Given the description of an element on the screen output the (x, y) to click on. 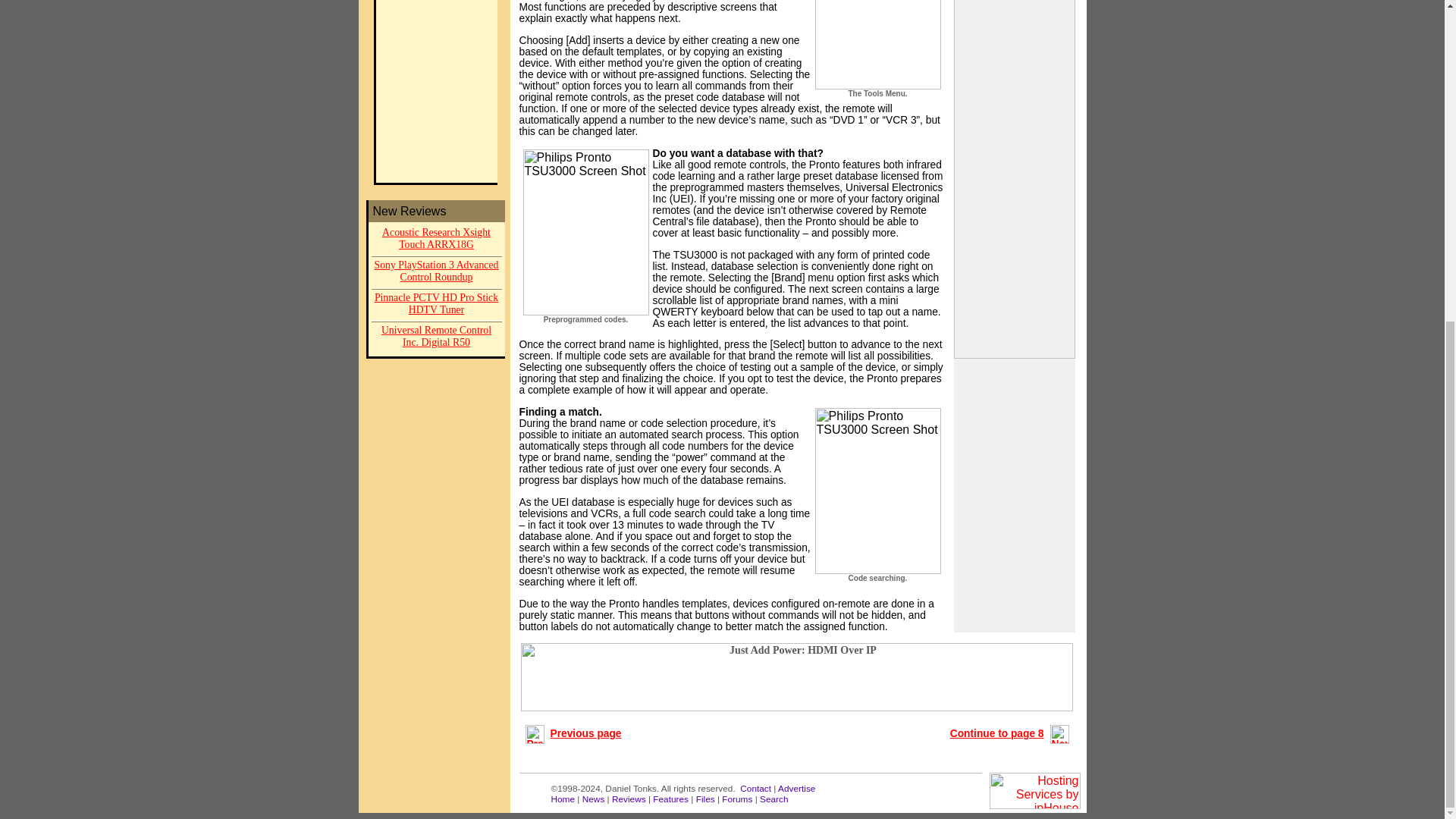
Pinnacle PCTV HD Pro Stick HDTV Tuner (436, 305)
Just Add Power: HDMI Over IP (797, 676)
Universal Remote Control Inc. Digital R50 (436, 337)
Sony PlayStation 3 Advanced Control Roundup (436, 272)
Acoustic Research Xsight Touch ARRX18G (436, 239)
